Given the description of an element on the screen output the (x, y) to click on. 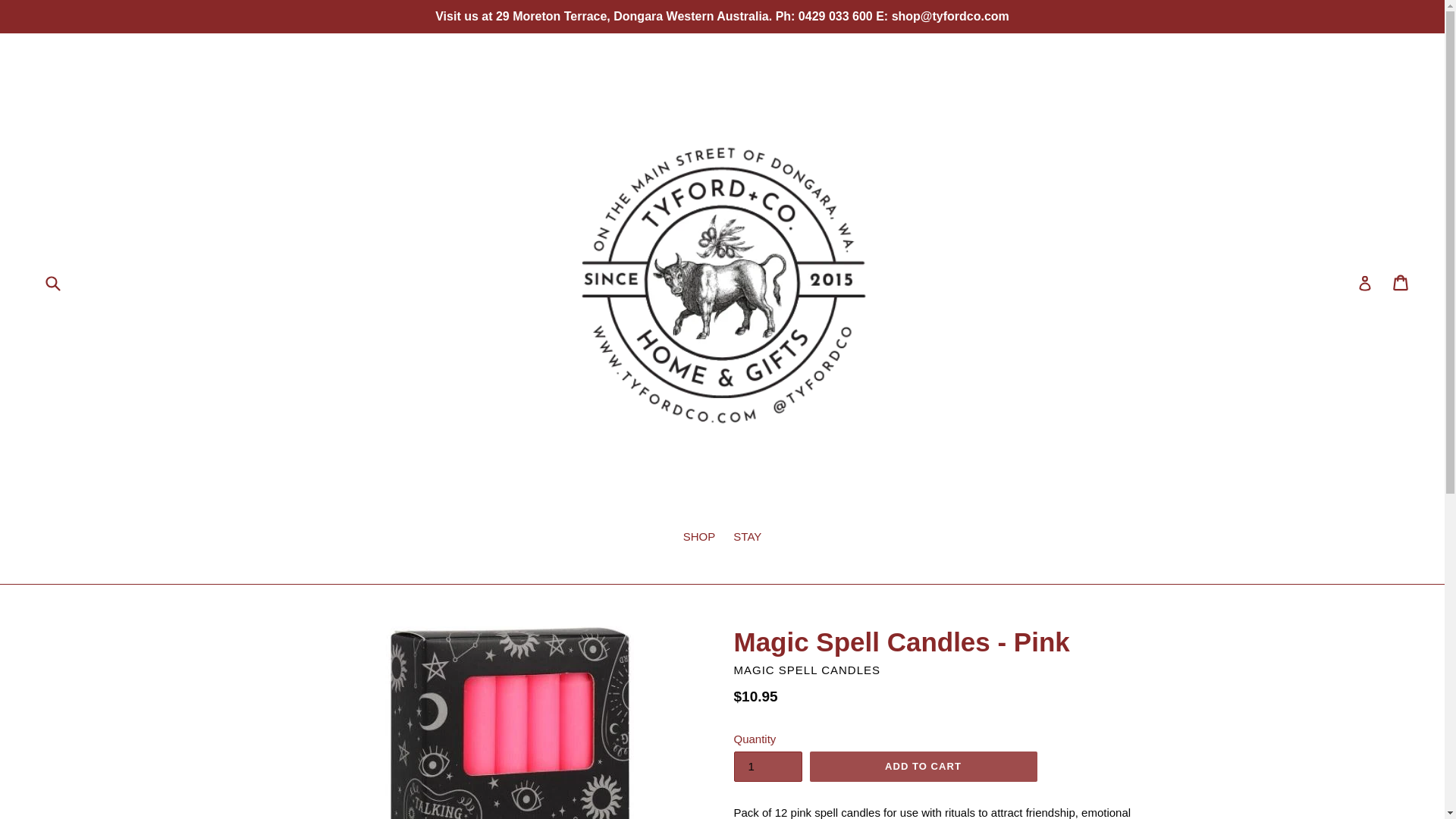
1 (767, 766)
ADD TO CART (922, 766)
STAY (746, 537)
SHOP (699, 537)
